Given the description of an element on the screen output the (x, y) to click on. 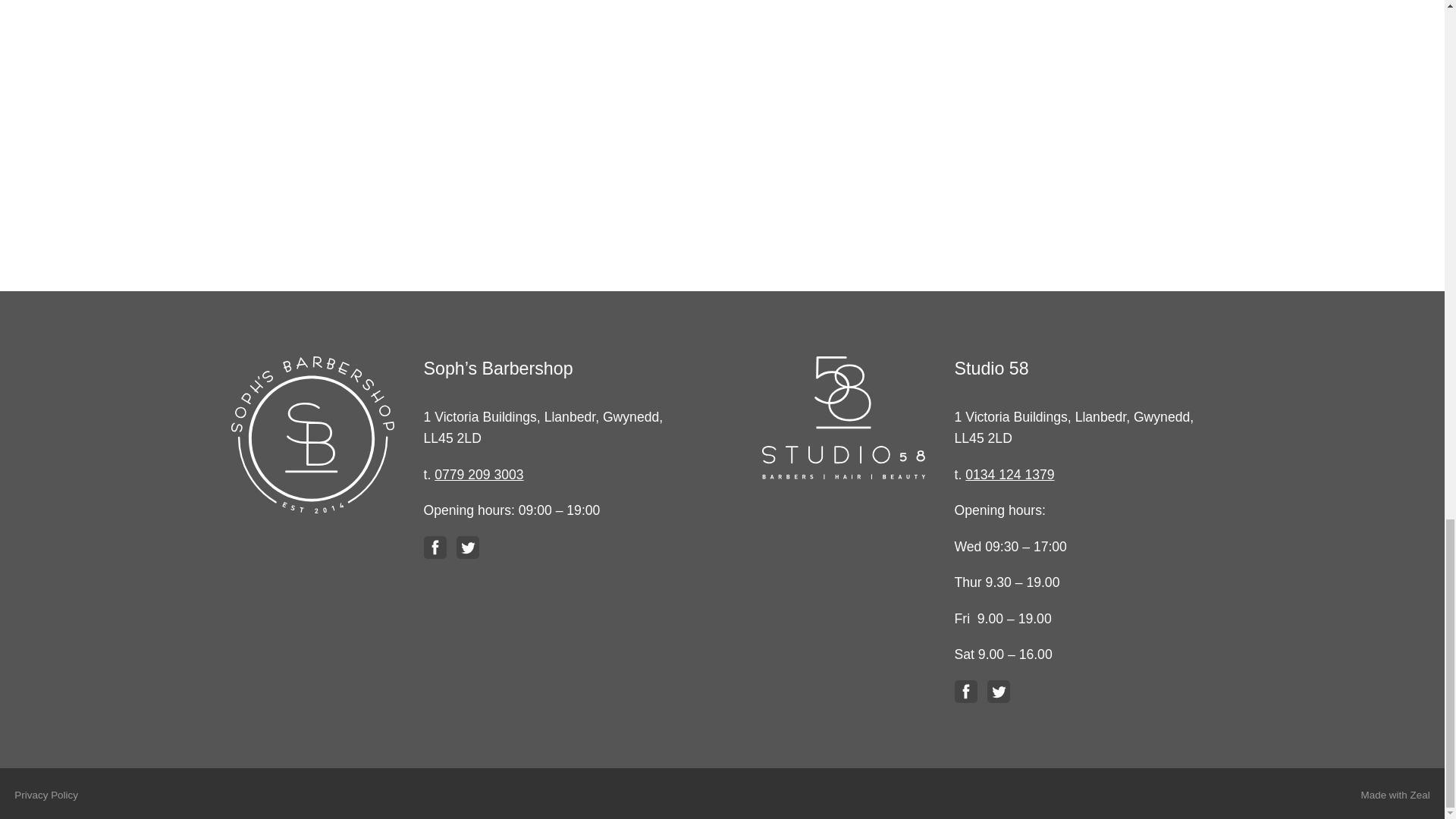
Made with Zeal (1395, 794)
0779 209 3003 (477, 474)
0134 124 1379 (1009, 474)
Privacy Policy (46, 794)
